Given the description of an element on the screen output the (x, y) to click on. 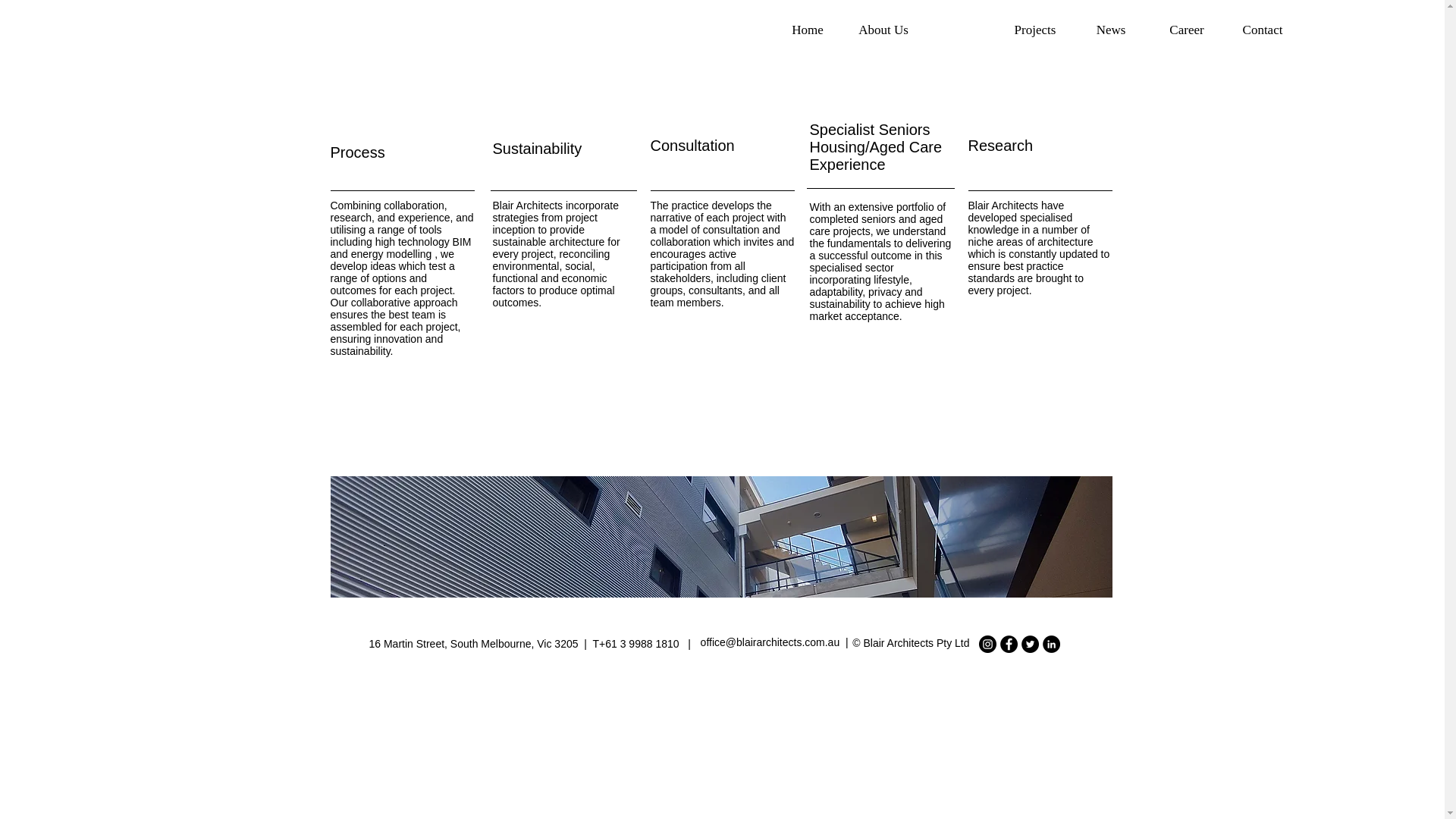
Blair Architects Pty Ltd (916, 643)
Home (807, 29)
Approach (959, 29)
Contact (1262, 29)
Projects (1035, 29)
Career (1186, 29)
News (1110, 29)
About Us (883, 29)
